Given the description of an element on the screen output the (x, y) to click on. 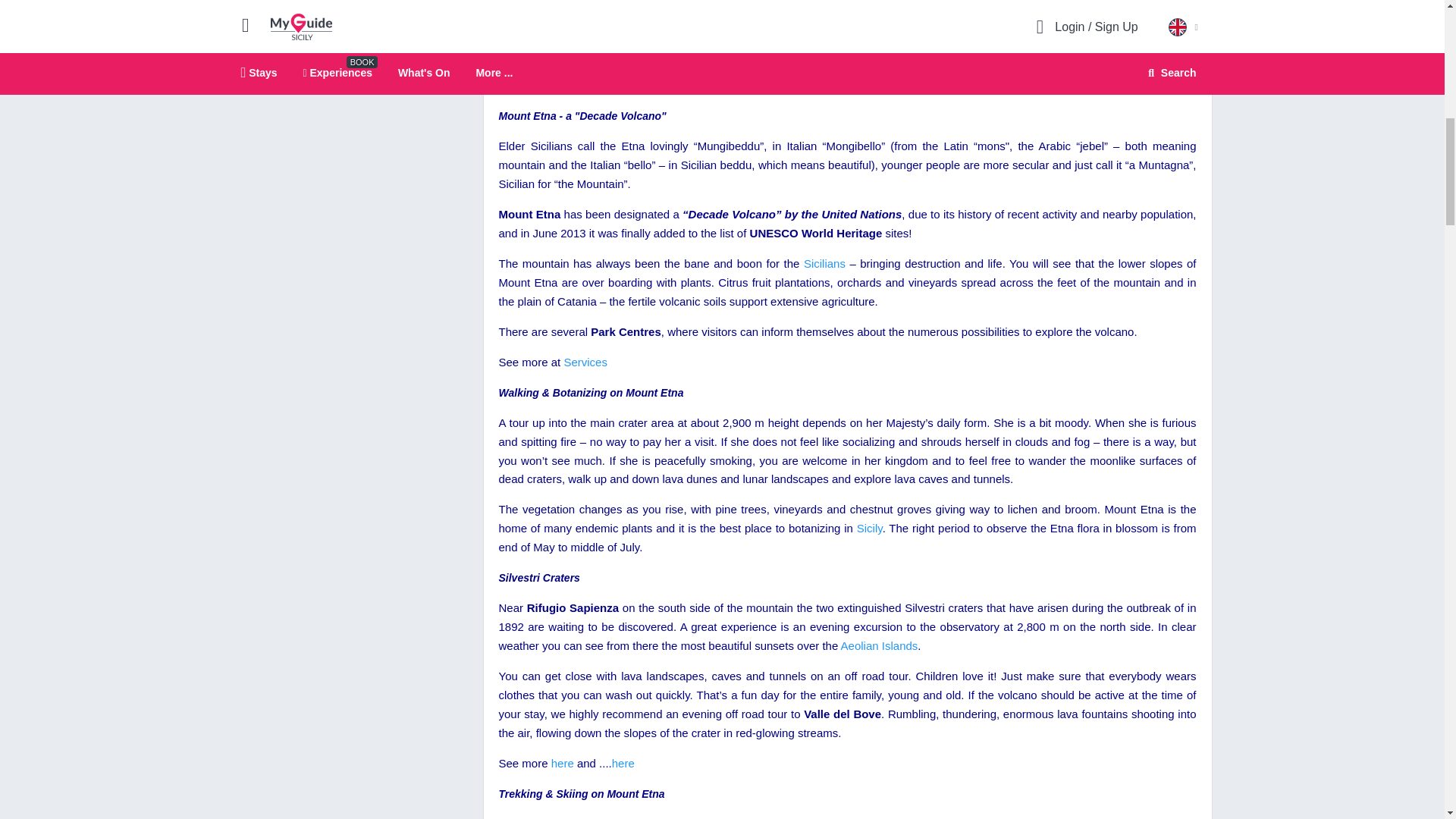
GetYourGuide Widget (346, 20)
